Given the description of an element on the screen output the (x, y) to click on. 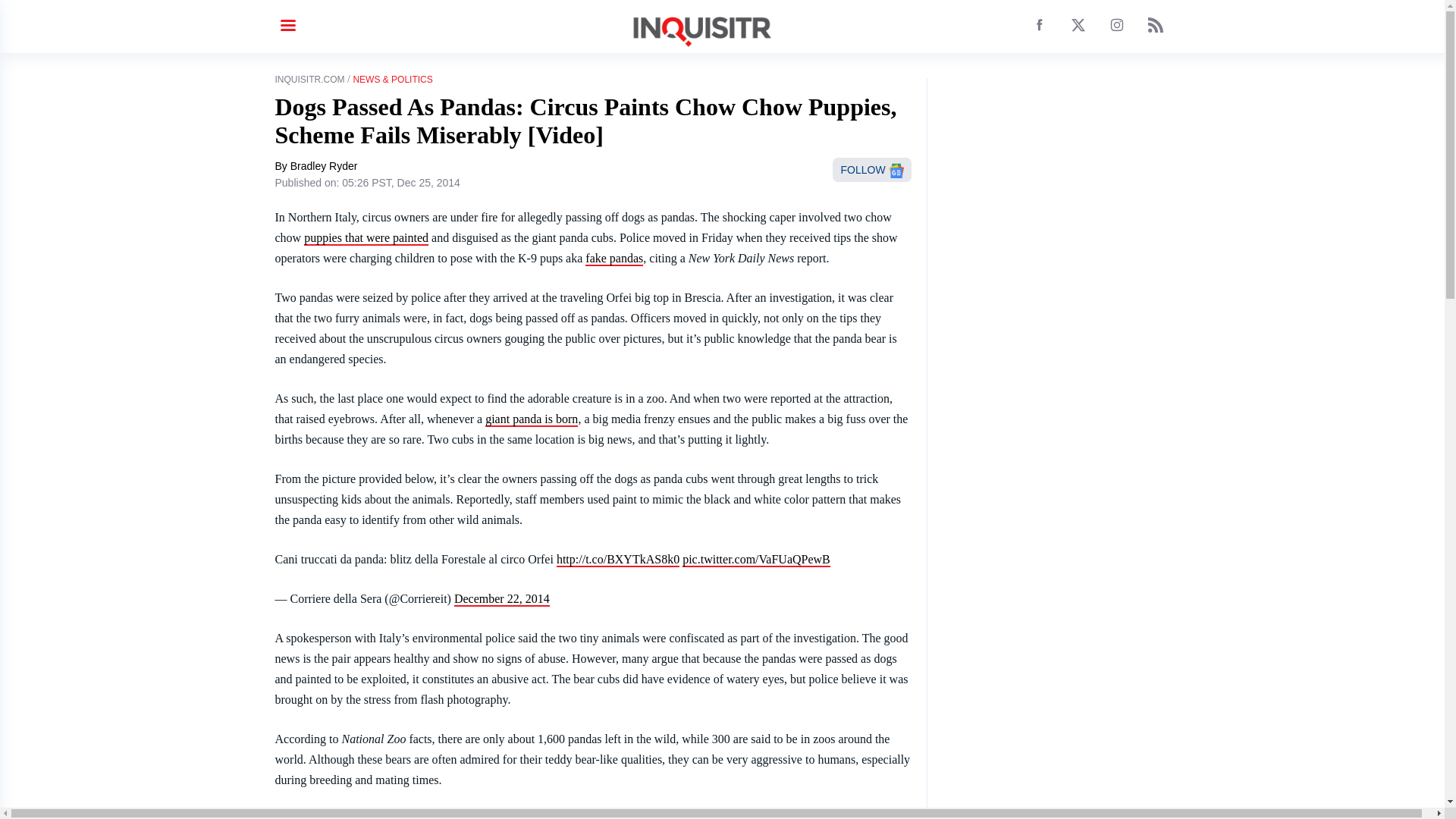
Giant Panda Born At National Zoo To Mei Xiang (531, 419)
INQUISITR.COM (309, 79)
